Given the description of an element on the screen output the (x, y) to click on. 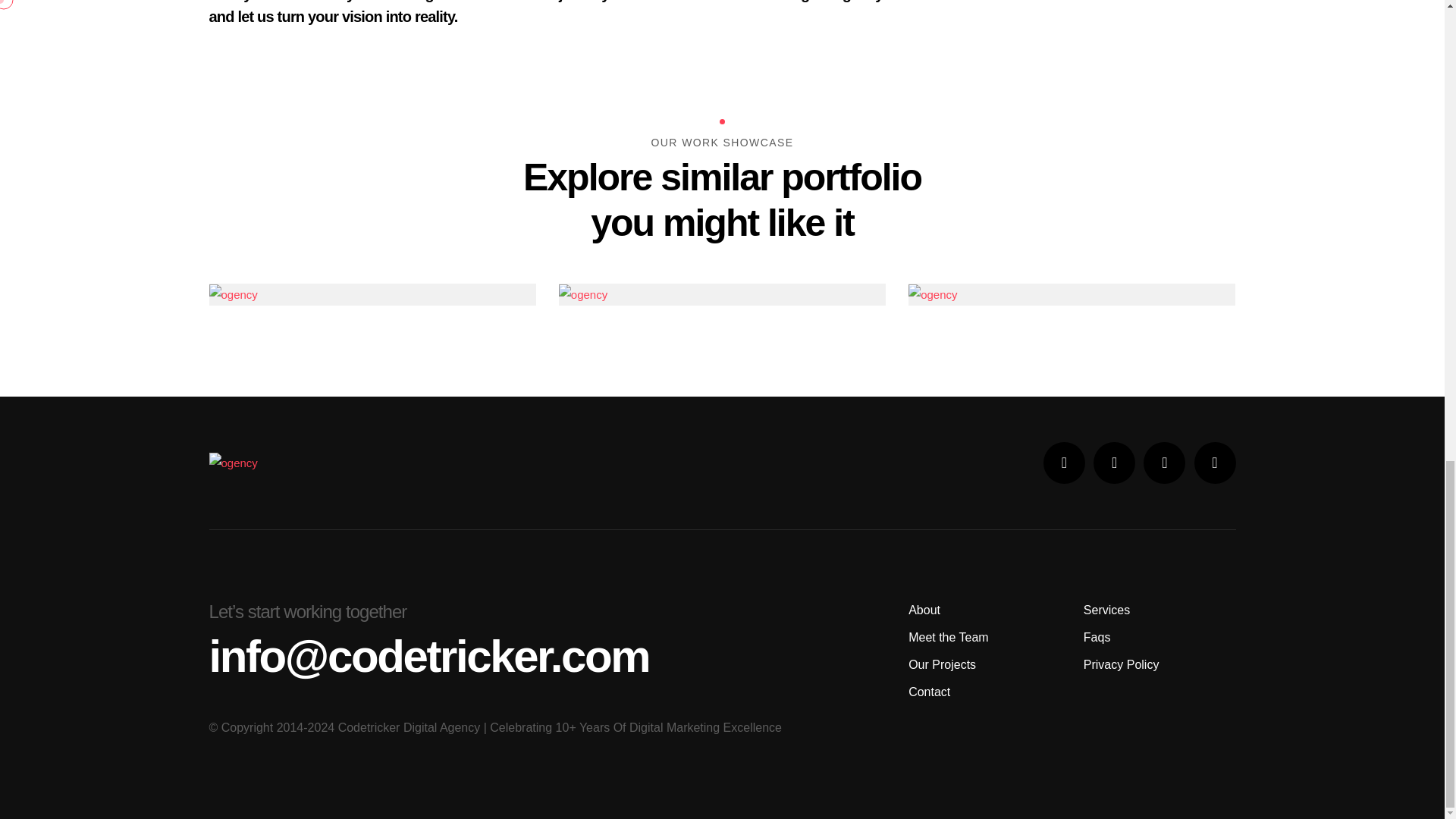
Privacy Policy (1120, 664)
Faqs (1096, 637)
Services (1106, 610)
Our Projects (941, 664)
Meet the Team (948, 637)
About (924, 610)
Contact (929, 691)
